Given the description of an element on the screen output the (x, y) to click on. 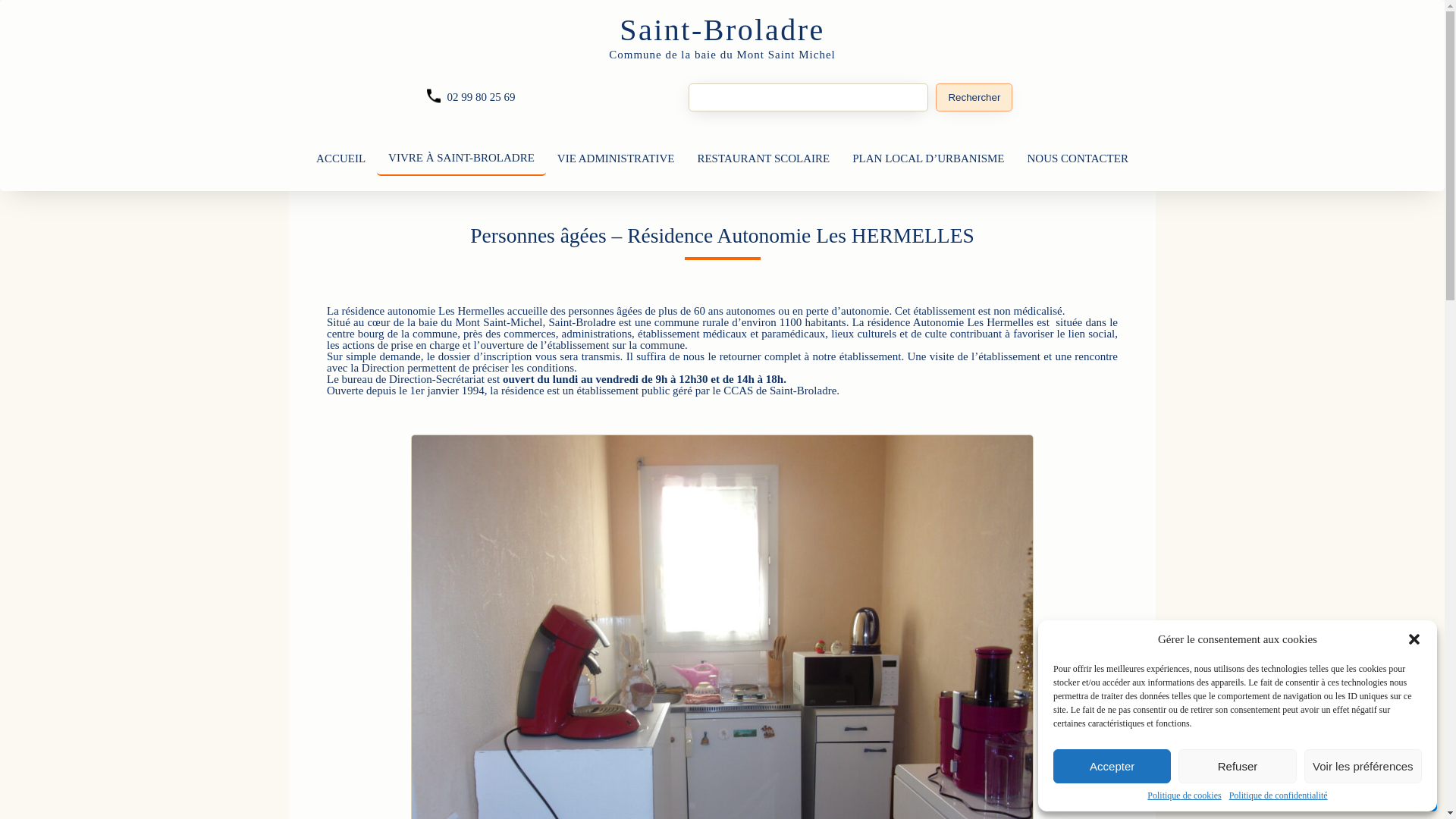
Refuser Element type: text (1236, 766)
Rechercher Element type: text (973, 97)
ACCUEIL Element type: text (340, 158)
NOUS CONTACTER Element type: text (1077, 158)
Saint-Broladre Element type: text (722, 29)
Politique de cookies Element type: text (1183, 795)
VIE ADMINISTRATIVE Element type: text (615, 158)
RESTAURANT SCOLAIRE Element type: text (762, 158)
02 99 80 25 69 Element type: text (481, 97)
Accepter Element type: text (1111, 766)
